Given the description of an element on the screen output the (x, y) to click on. 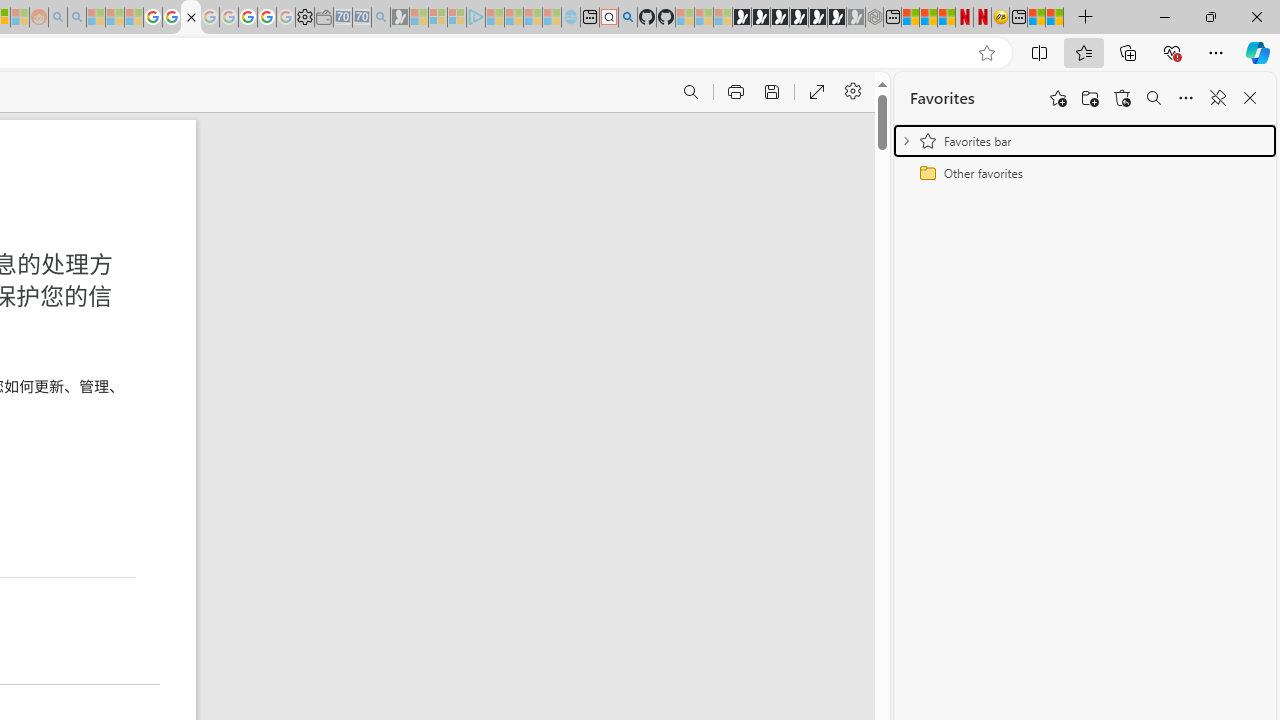
Restore deleted favorites (1122, 98)
Wildlife - MSN (1035, 17)
